Given the description of an element on the screen output the (x, y) to click on. 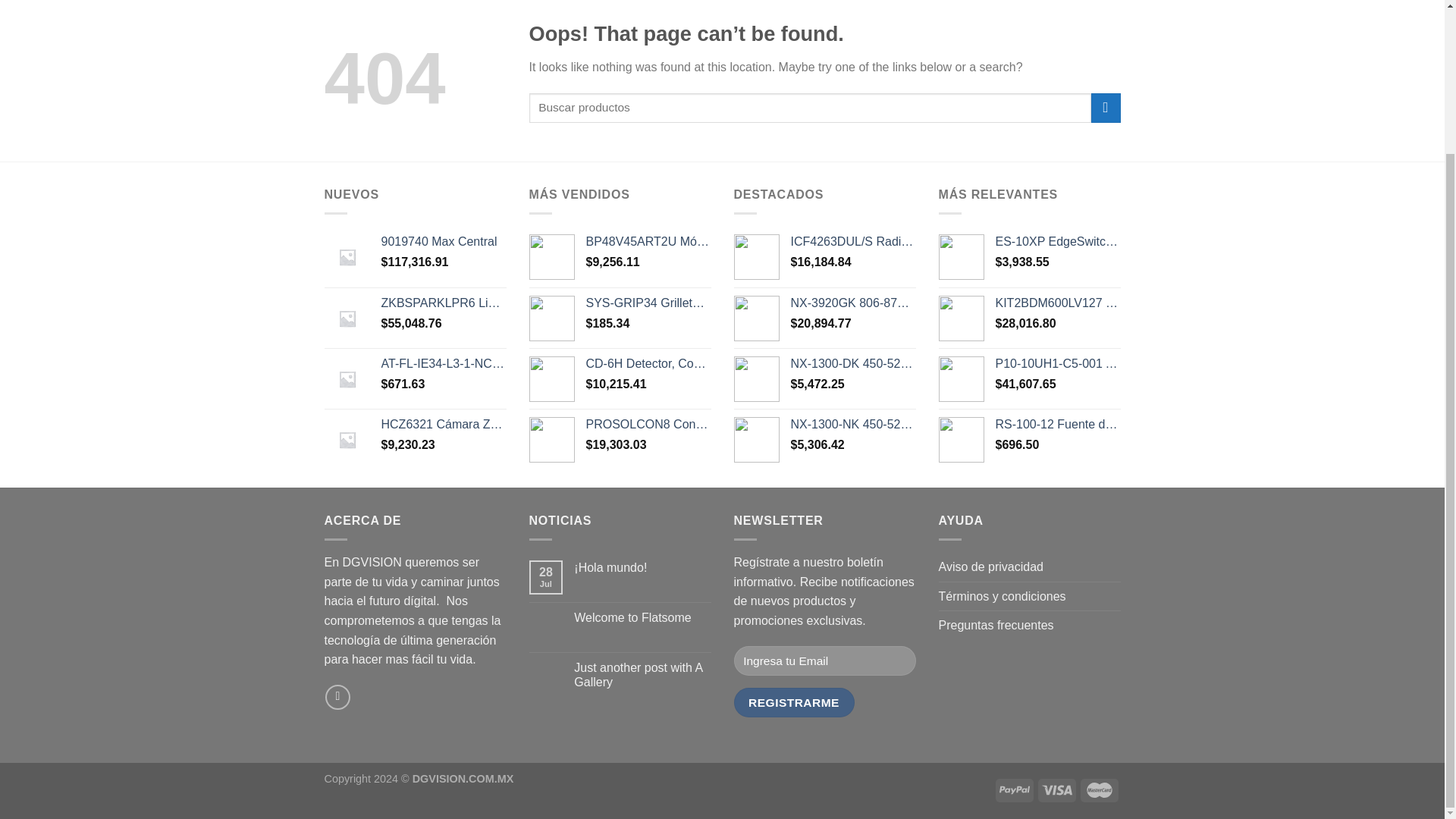
Follow on Facebook (337, 697)
Welcome to Flatsome (641, 617)
Registrarme (793, 702)
9019740 Max Central (442, 242)
Just another post with A Gallery (641, 674)
